Given the description of an element on the screen output the (x, y) to click on. 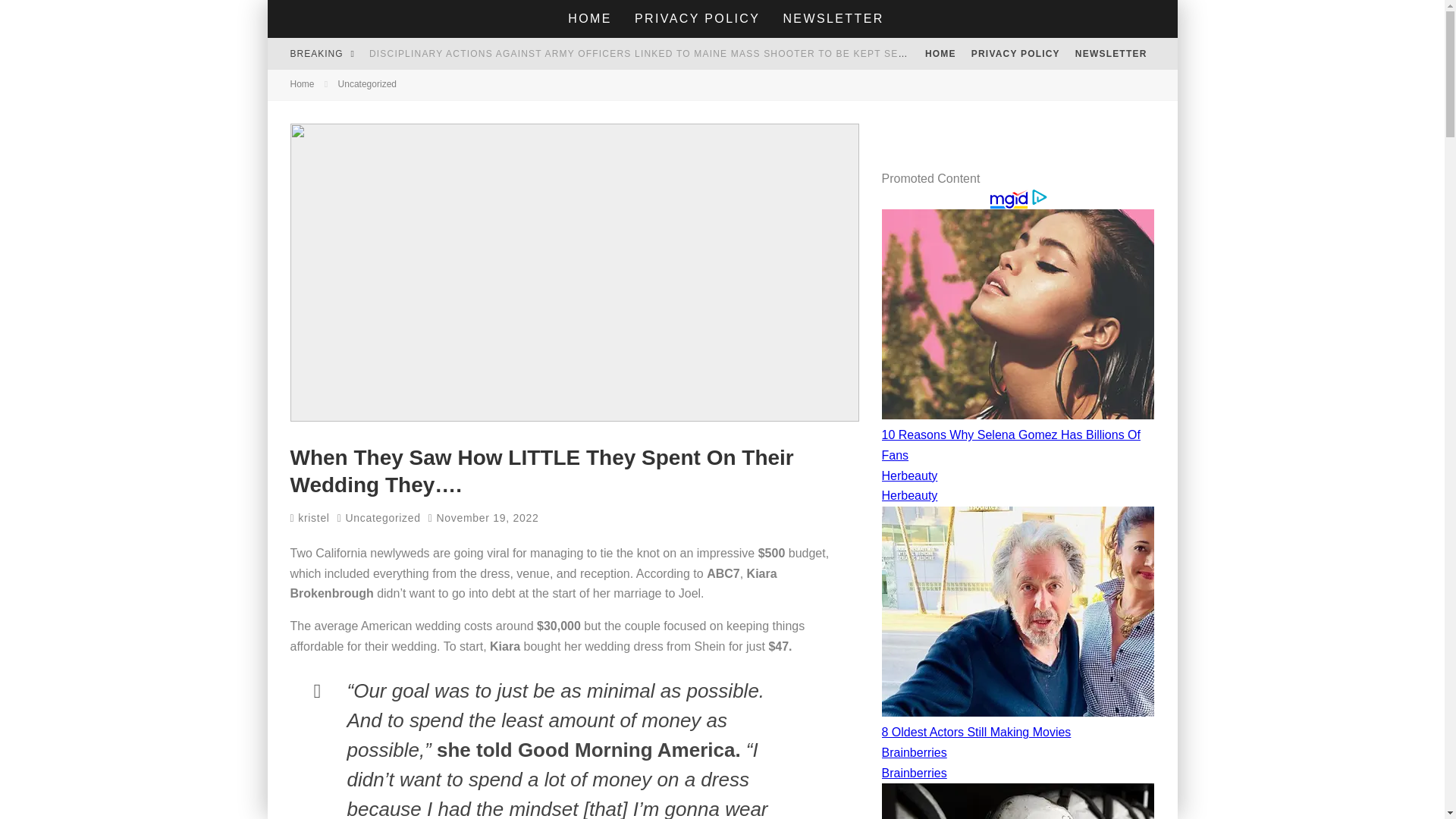
HOME (589, 18)
Uncategorized (366, 83)
kristel (309, 517)
PRIVACY POLICY (697, 18)
NEWSLETTER (833, 18)
Home (301, 83)
HOME (940, 53)
PRIVACY POLICY (1015, 53)
Uncategorized (382, 517)
NEWSLETTER (1110, 53)
